Given the description of an element on the screen output the (x, y) to click on. 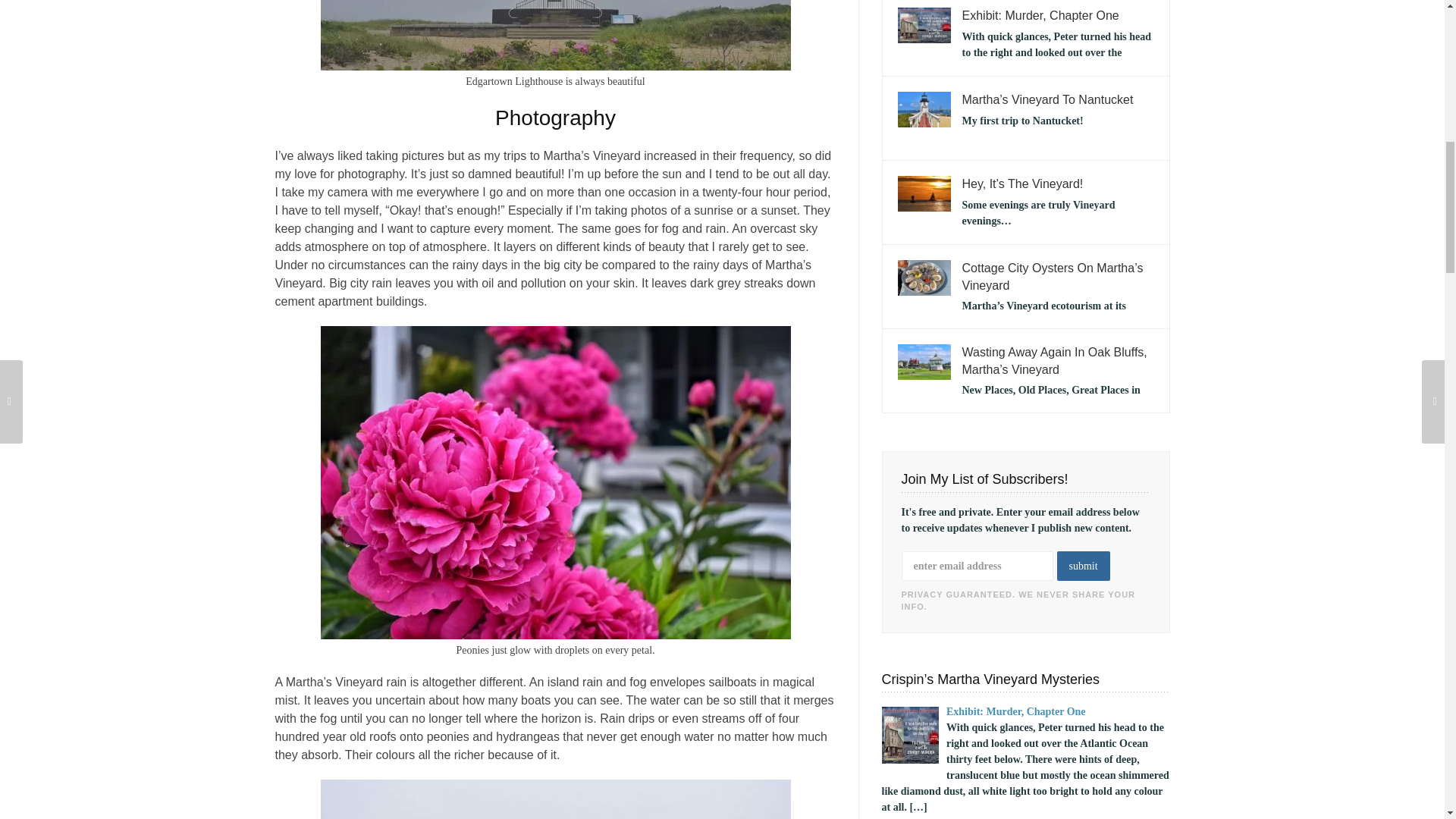
Submit (1083, 565)
Edgartown Lighthouse Martha's Vineyard (555, 35)
